Given the description of an element on the screen output the (x, y) to click on. 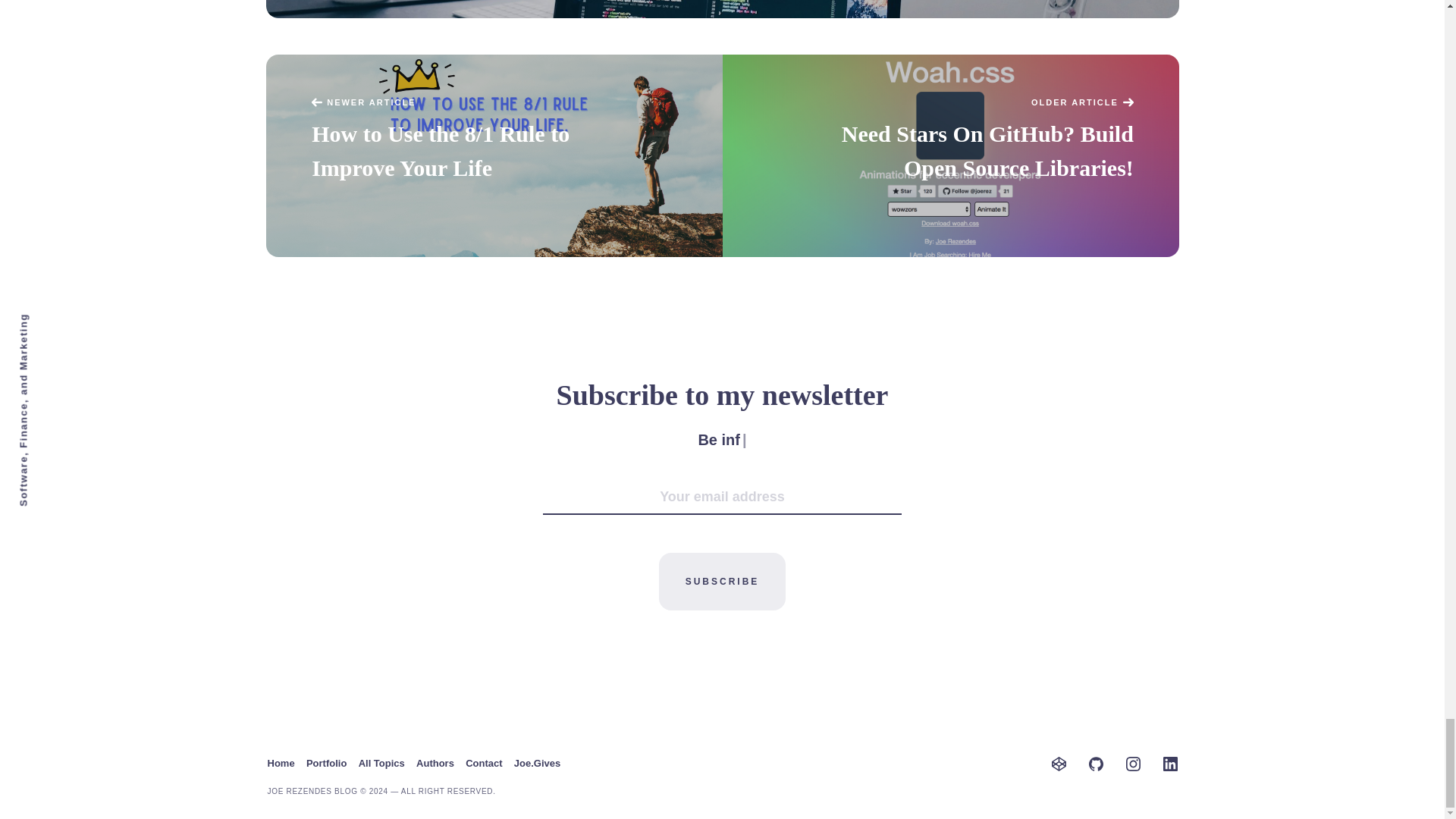
JOE REZENDES BLOG (311, 791)
All Topics (381, 763)
Authors (435, 763)
SUBSCRIBE (722, 581)
Portfolio (325, 763)
Contact (483, 763)
Home (280, 763)
Joe.Gives (536, 763)
